Given the description of an element on the screen output the (x, y) to click on. 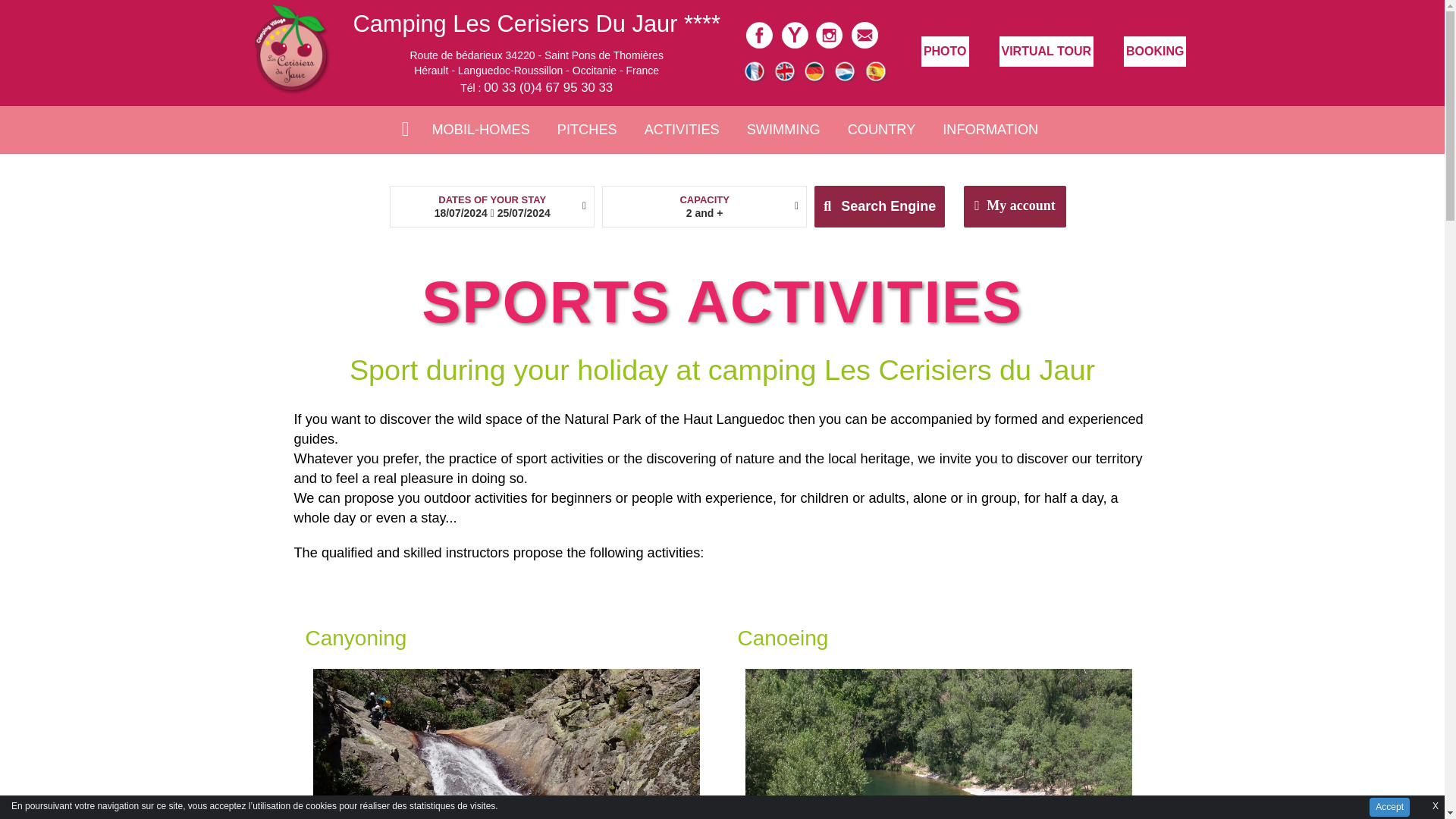
VIRTUAL TOUR (1046, 51)
PHOTO (945, 51)
Contactez notre camping (863, 33)
PITCHES (586, 129)
ACTIVITIES (681, 129)
Accept (1389, 806)
BOOKING (1155, 51)
MOBIL-HOMES (480, 129)
SWIMMING (783, 129)
